Given the description of an element on the screen output the (x, y) to click on. 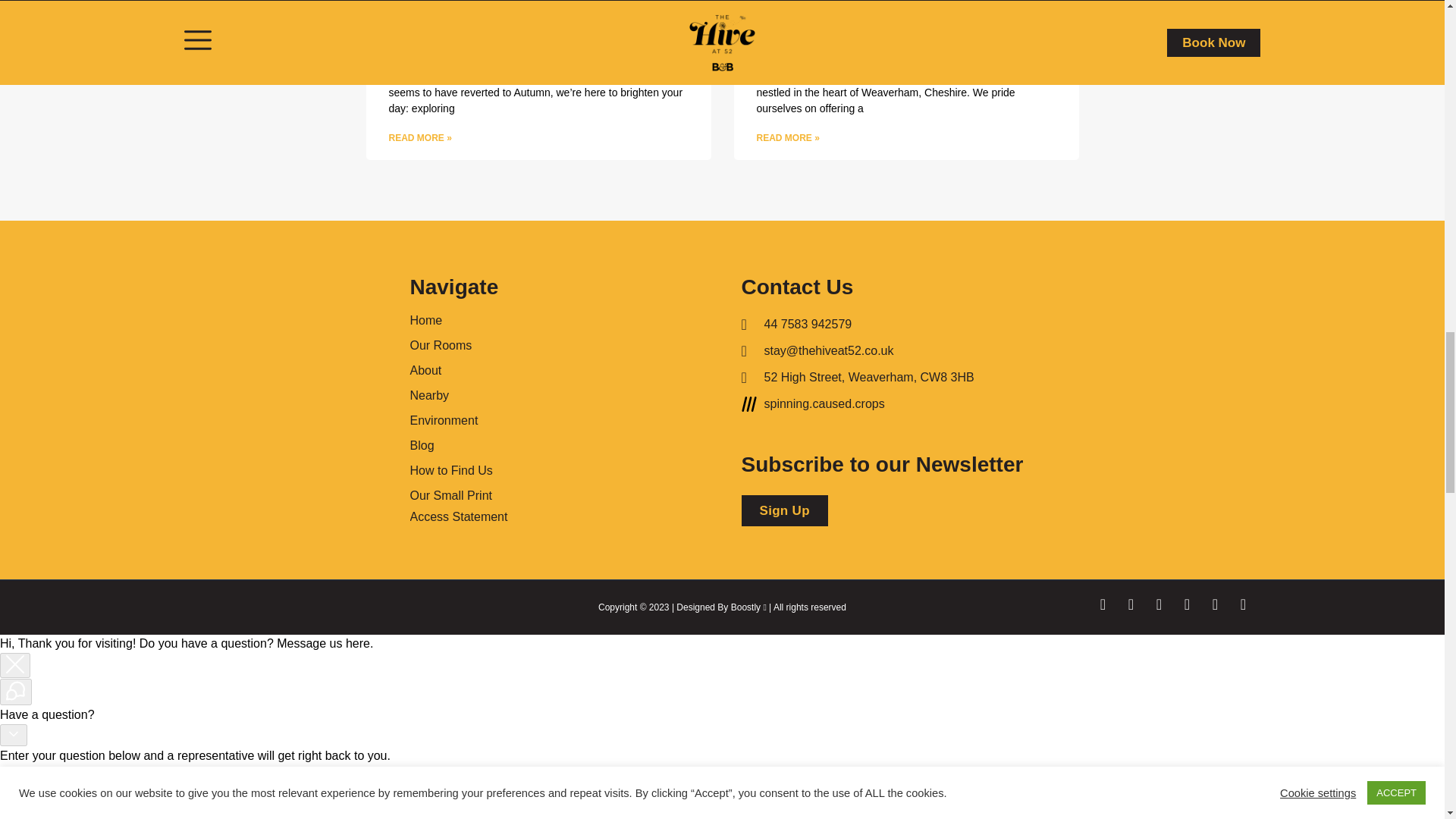
Environment (456, 420)
Sign Up (784, 510)
Our Rooms (456, 344)
spinning.caused.crops (891, 403)
Access Statement (457, 516)
How to Find Us (456, 470)
44 7583 942579 (891, 324)
About (456, 370)
Home (456, 319)
Nearby (456, 395)
Our Small Print (456, 495)
Blog (456, 445)
